Given the description of an element on the screen output the (x, y) to click on. 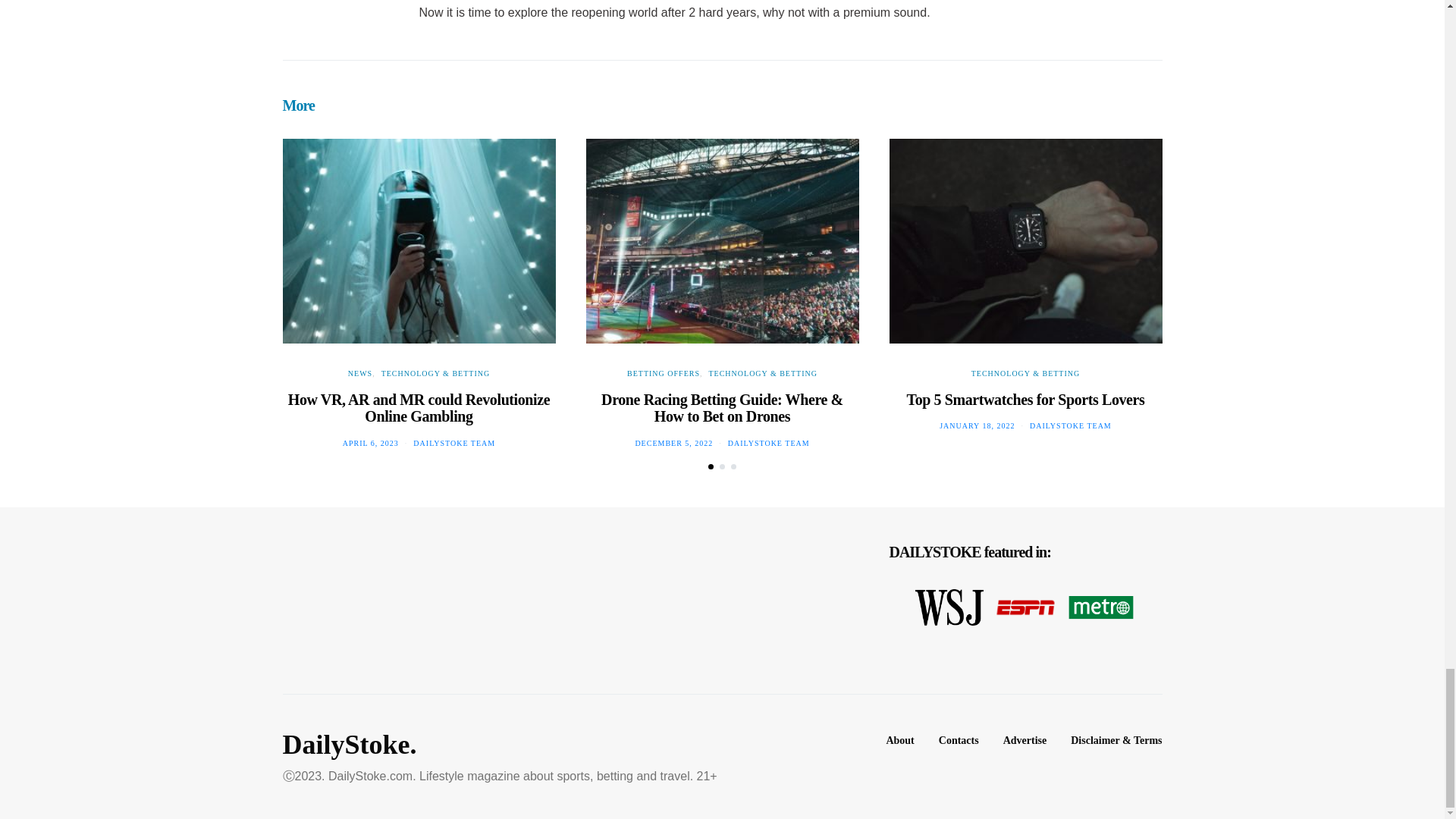
View all posts by DailyStoke Team (454, 442)
View all posts by DailyStoke Team (1070, 425)
View all posts by DailyStoke Team (768, 442)
